Given the description of an element on the screen output the (x, y) to click on. 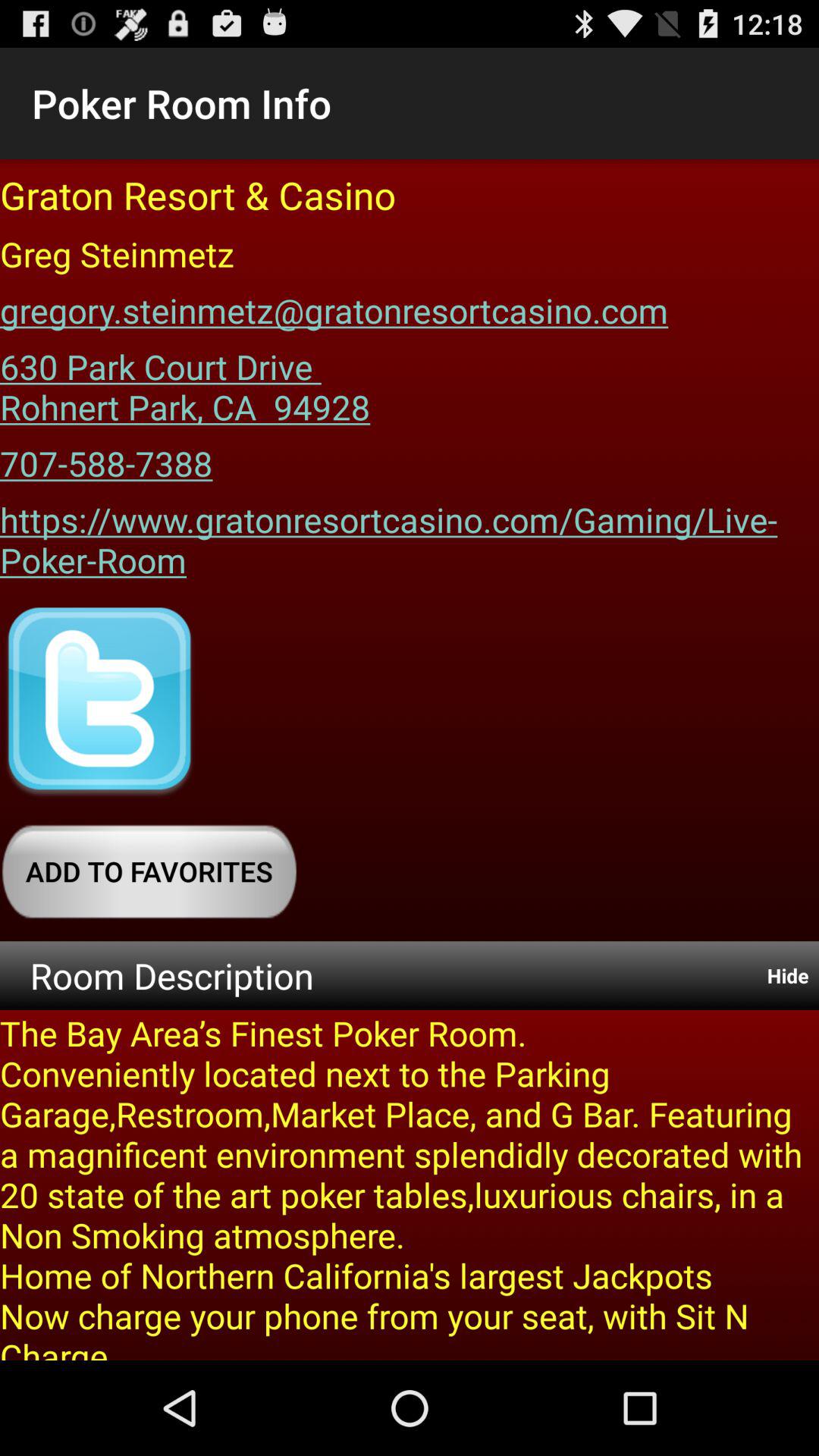
click app below the 707-588-7388 icon (409, 534)
